Given the description of an element on the screen output the (x, y) to click on. 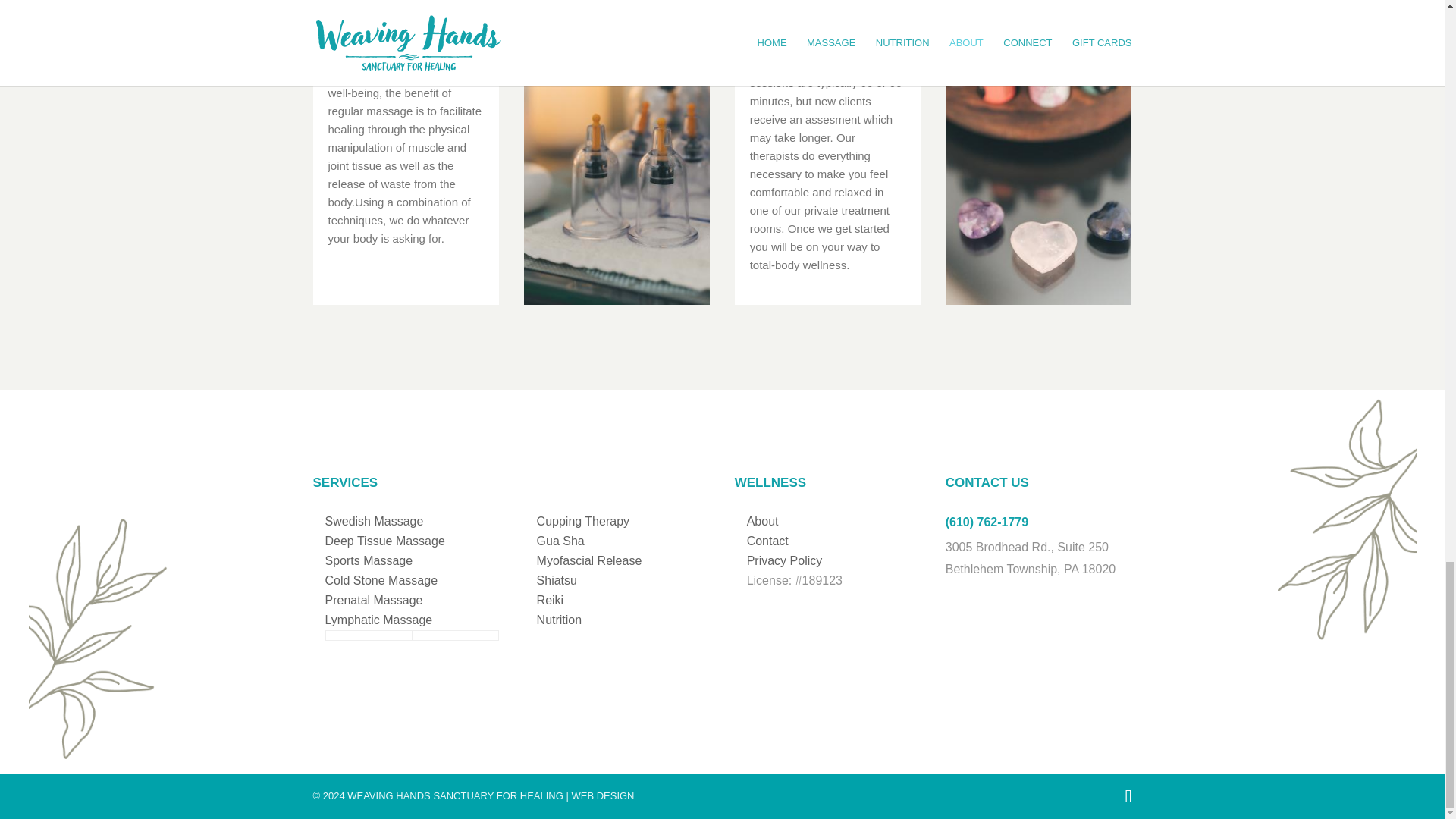
Cupping Therapy (582, 521)
Lymphatic Massage (378, 619)
Myofascial Release (589, 560)
Sports Massage (368, 560)
About (762, 521)
Reiki (550, 599)
Shiatsu (556, 580)
Gua Sha (561, 540)
Contact (767, 540)
Swedish Massage (373, 521)
